Given the description of an element on the screen output the (x, y) to click on. 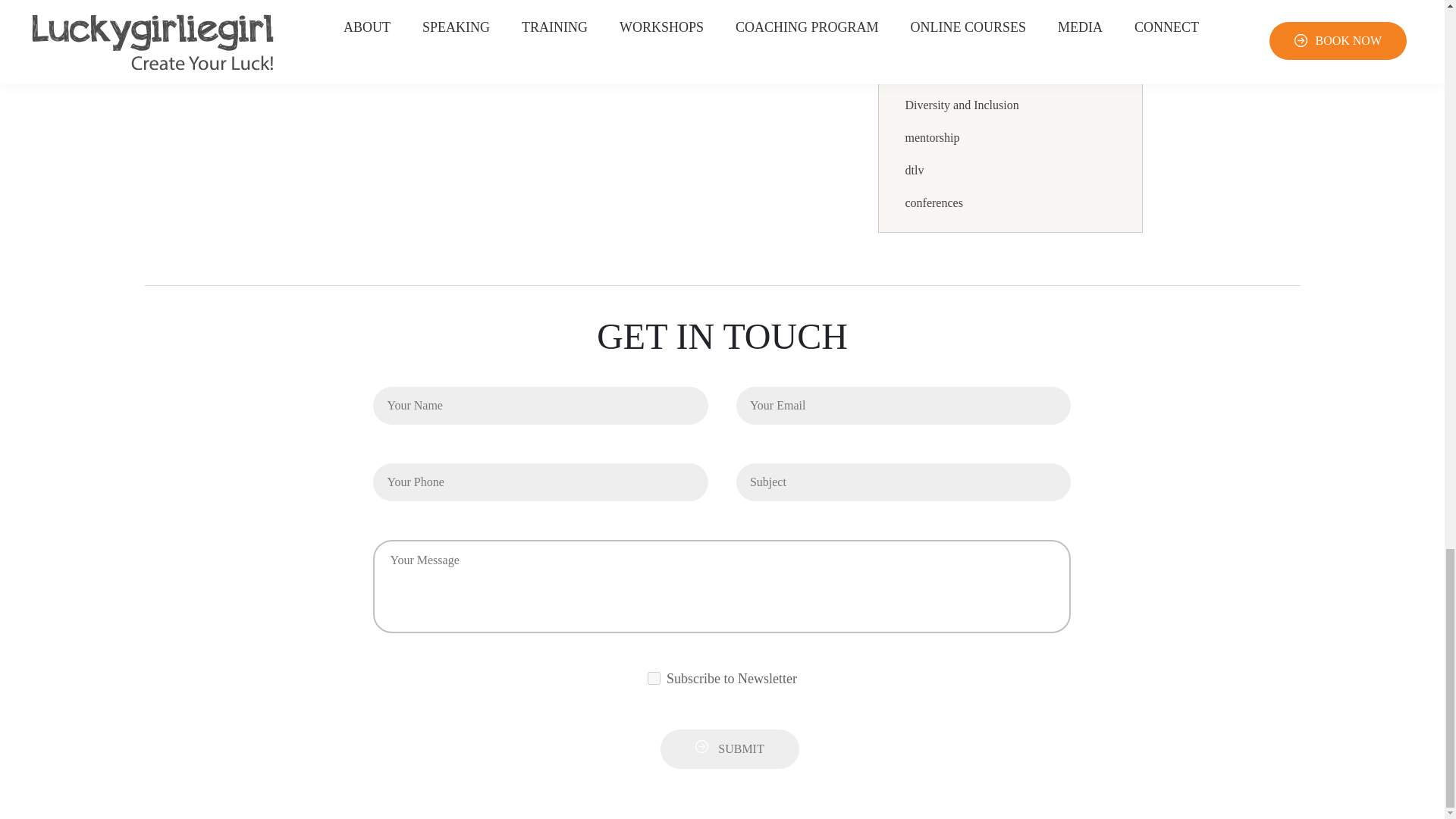
SUBMIT (729, 749)
Subscribe to Newsletter (654, 677)
